Given the description of an element on the screen output the (x, y) to click on. 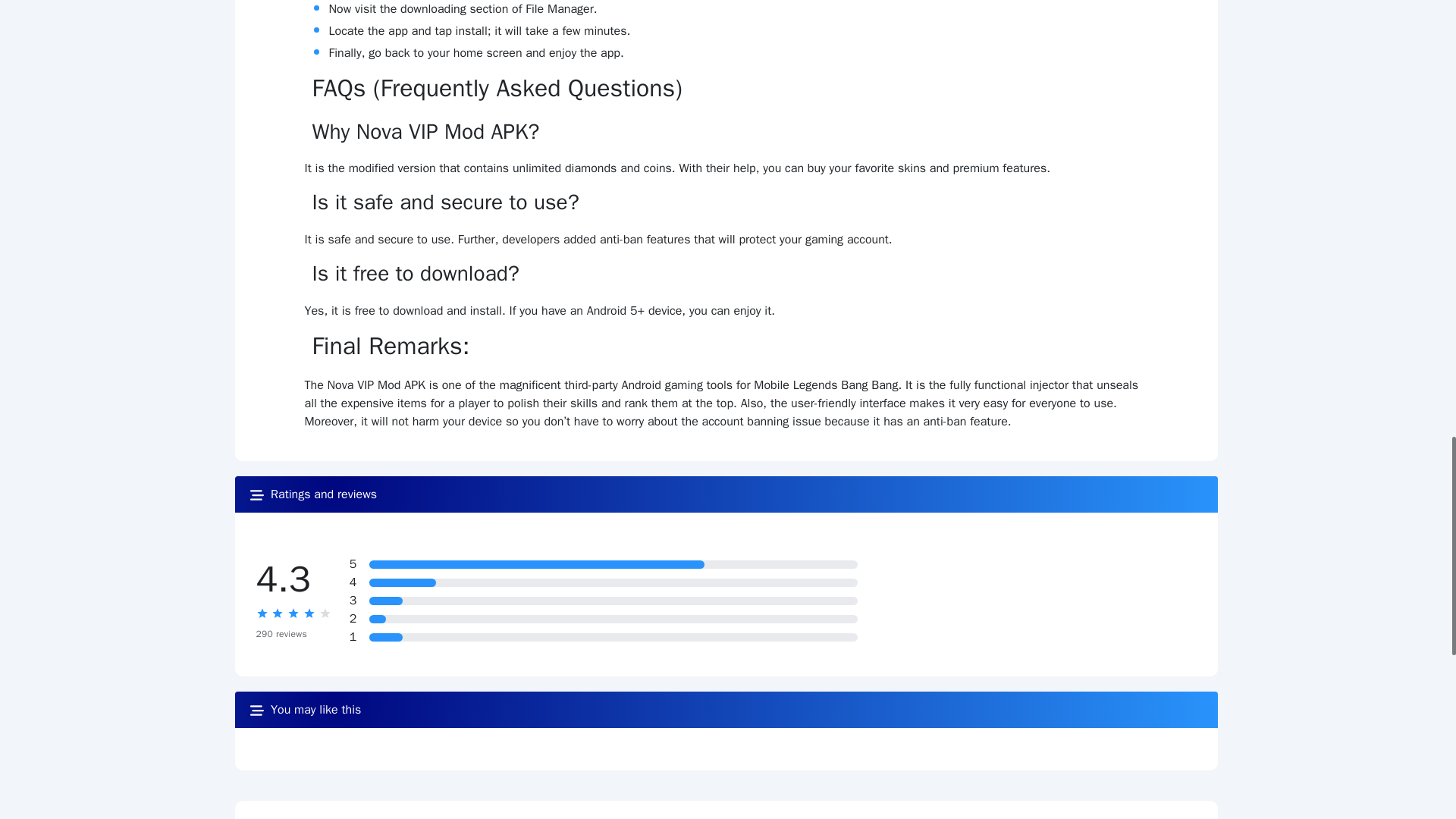
10 (377, 619)
200 (536, 564)
40 (402, 582)
20 (386, 601)
